Given the description of an element on the screen output the (x, y) to click on. 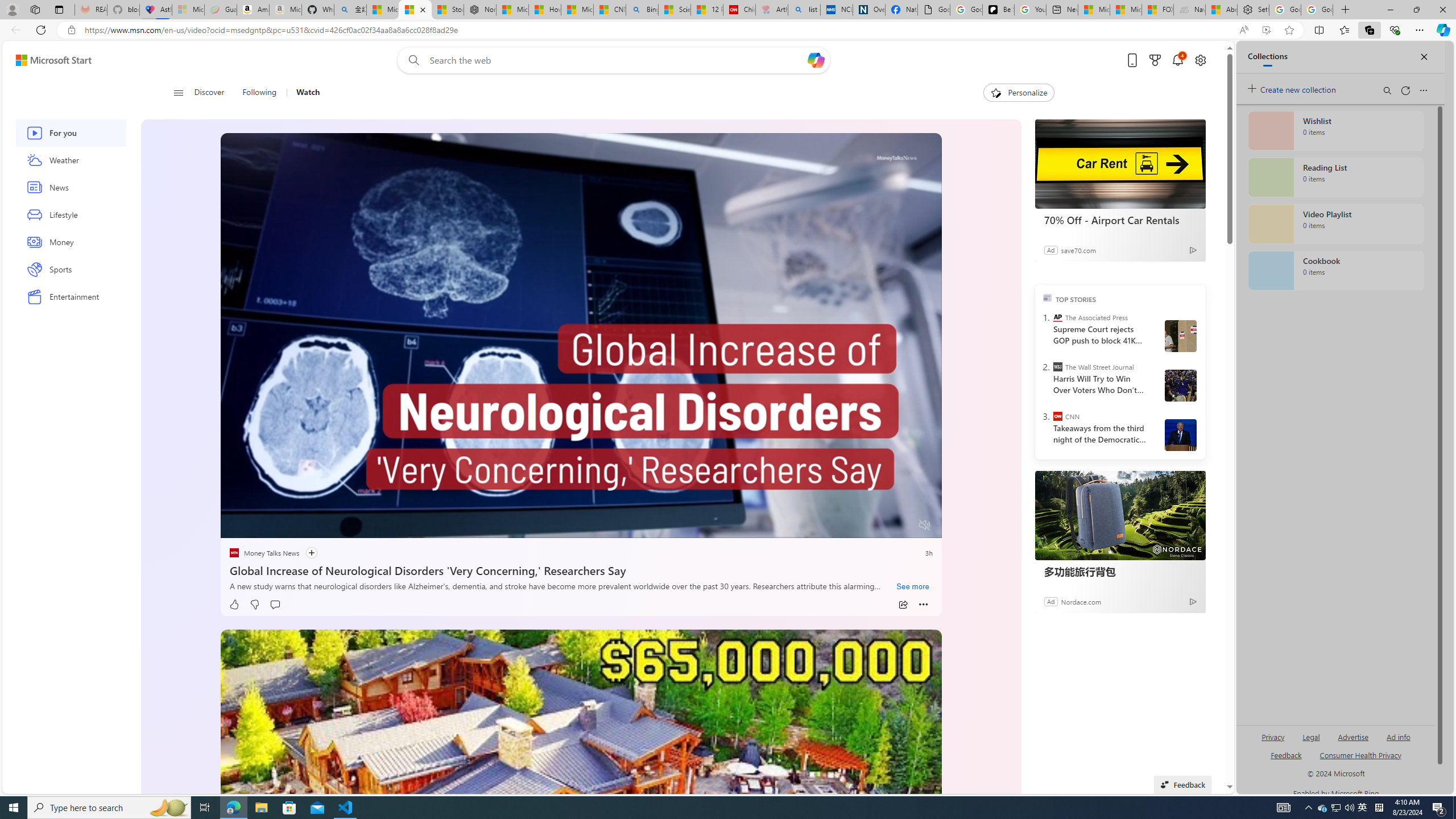
Follow (305, 553)
More (923, 604)
Google Analytics Opt-out Browser Add-on Download Page (933, 9)
Nordace.com (1081, 601)
Quality Settings (857, 525)
